Given the description of an element on the screen output the (x, y) to click on. 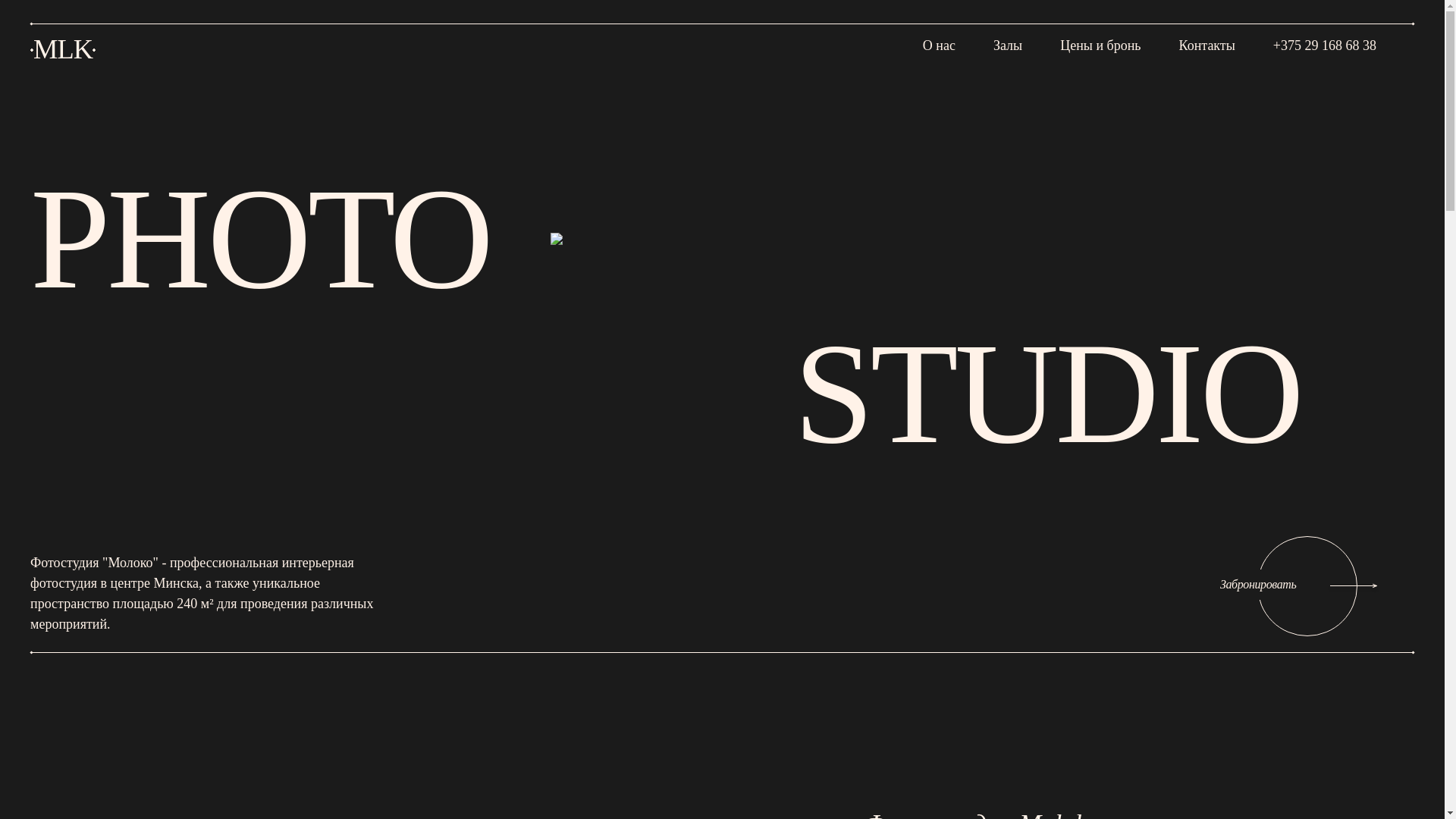
+375 29 168 68 38 Element type: text (1324, 43)
